Given the description of an element on the screen output the (x, y) to click on. 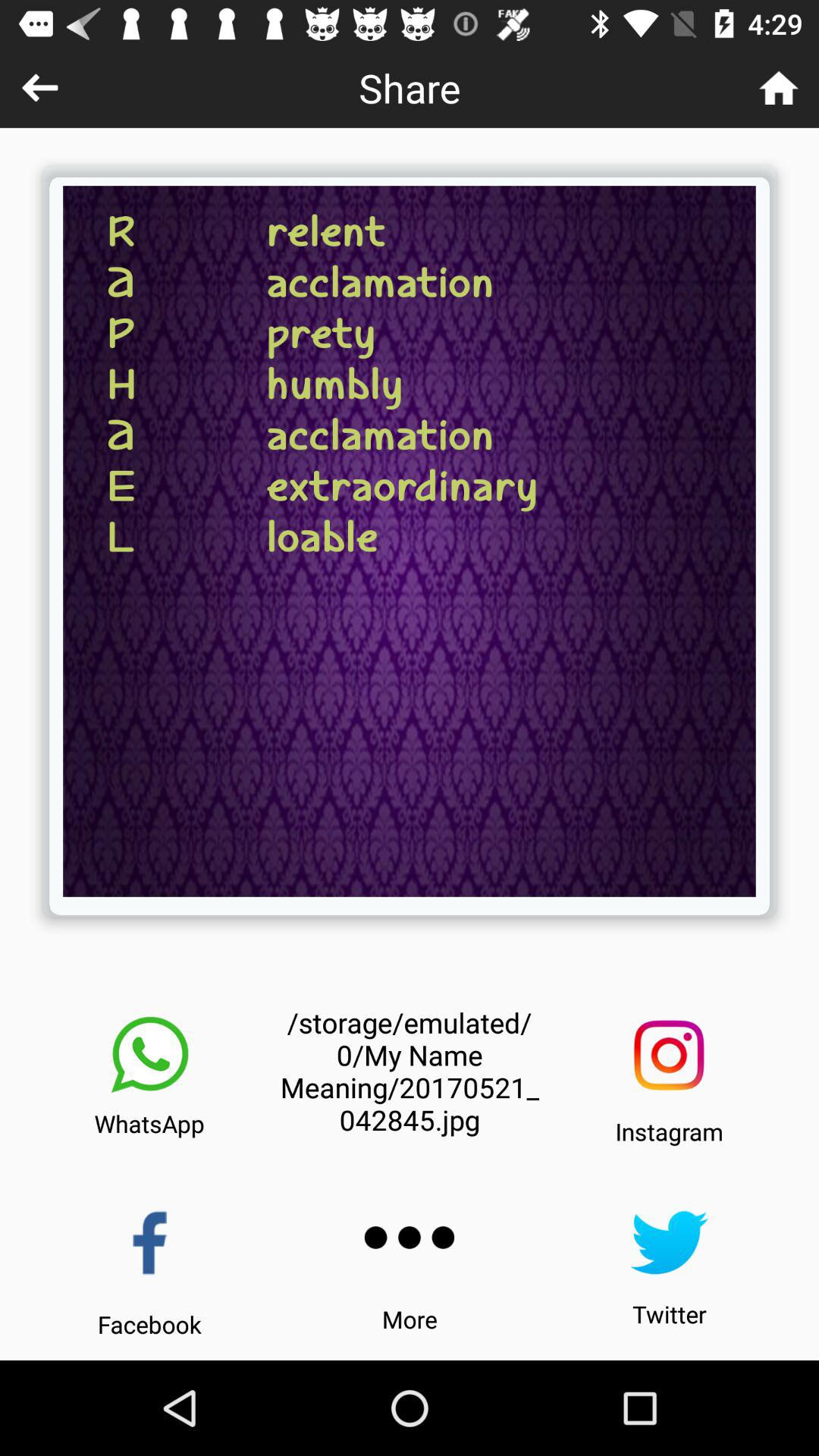
launch icon above the twitter (669, 1242)
